Given the description of an element on the screen output the (x, y) to click on. 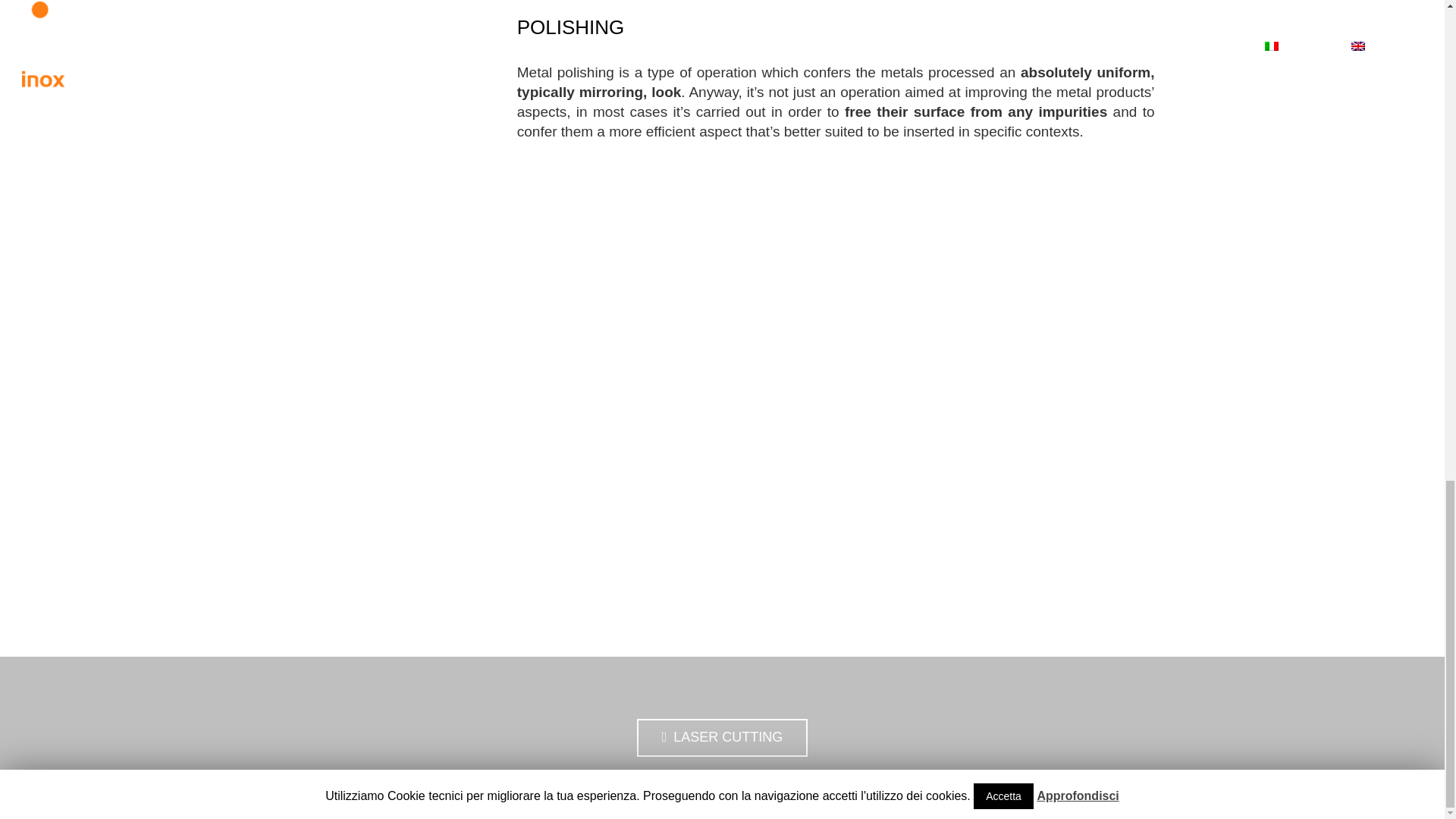
LASER CUTTING (721, 737)
